Given the description of an element on the screen output the (x, y) to click on. 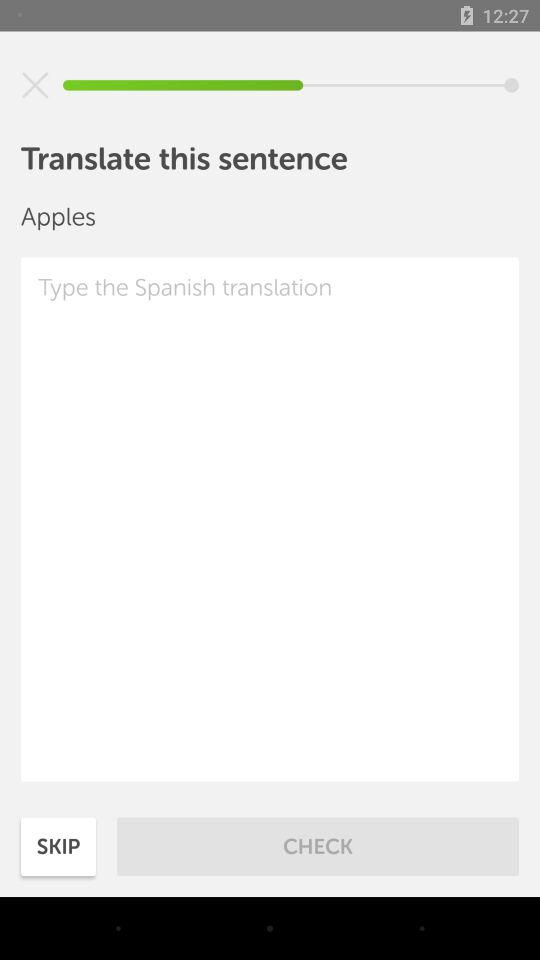
space to write text (270, 519)
